Given the description of an element on the screen output the (x, y) to click on. 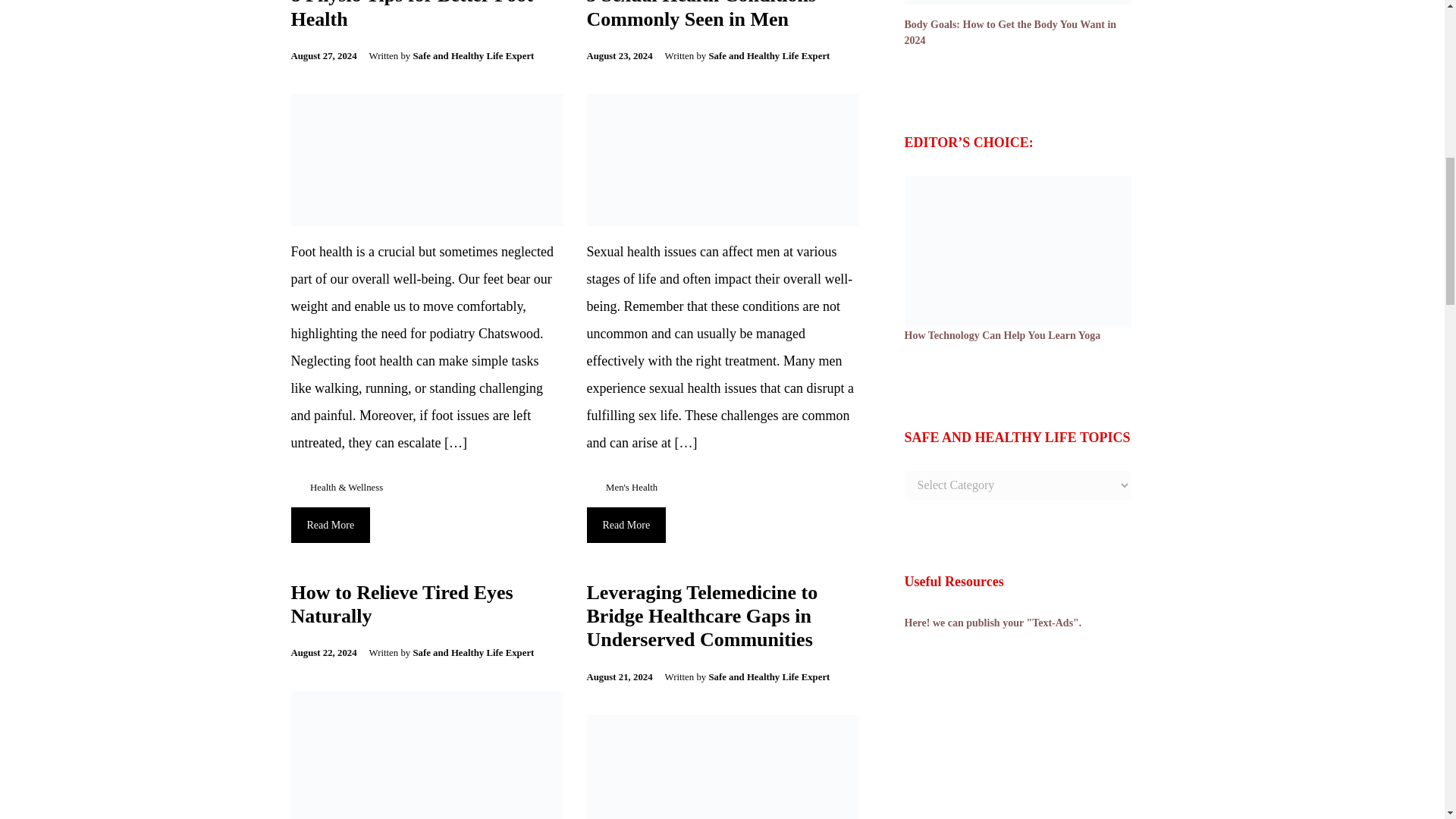
Men's Health (631, 487)
View all posts by Safe and Healthy Life Expert (473, 55)
August 23, 2024 (625, 55)
August 22, 2024 (330, 652)
How to Relieve Tired Eyes Naturally (402, 604)
Safe and Healthy Life Expert (473, 55)
View all posts by Safe and Healthy Life Expert (768, 676)
8 Physio Tips for Better Foot Health (411, 14)
Read More (331, 524)
Safe and Healthy Life Expert (768, 55)
